Given the description of an element on the screen output the (x, y) to click on. 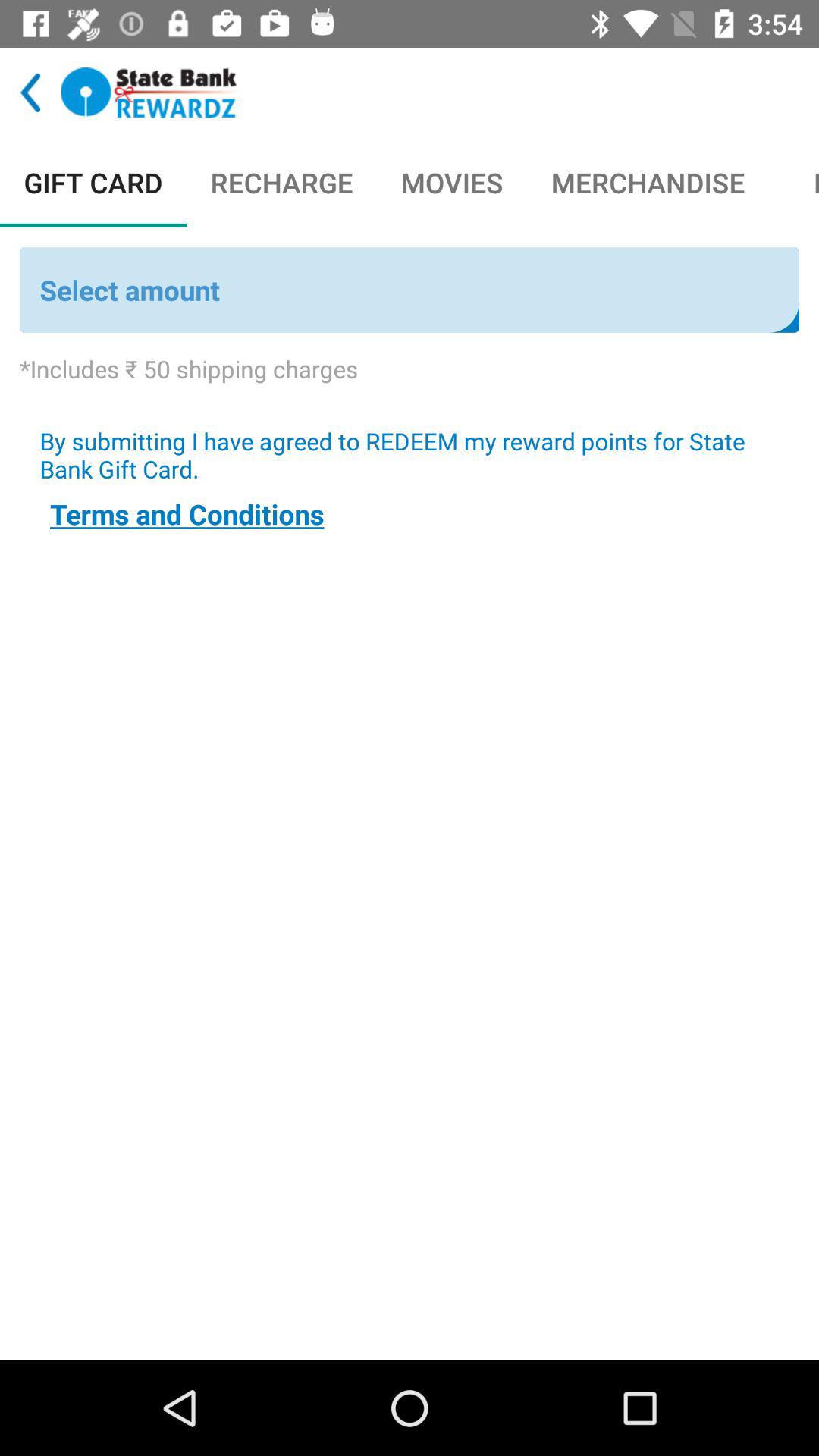
swipe until terms and conditions icon (186, 514)
